Given the description of an element on the screen output the (x, y) to click on. 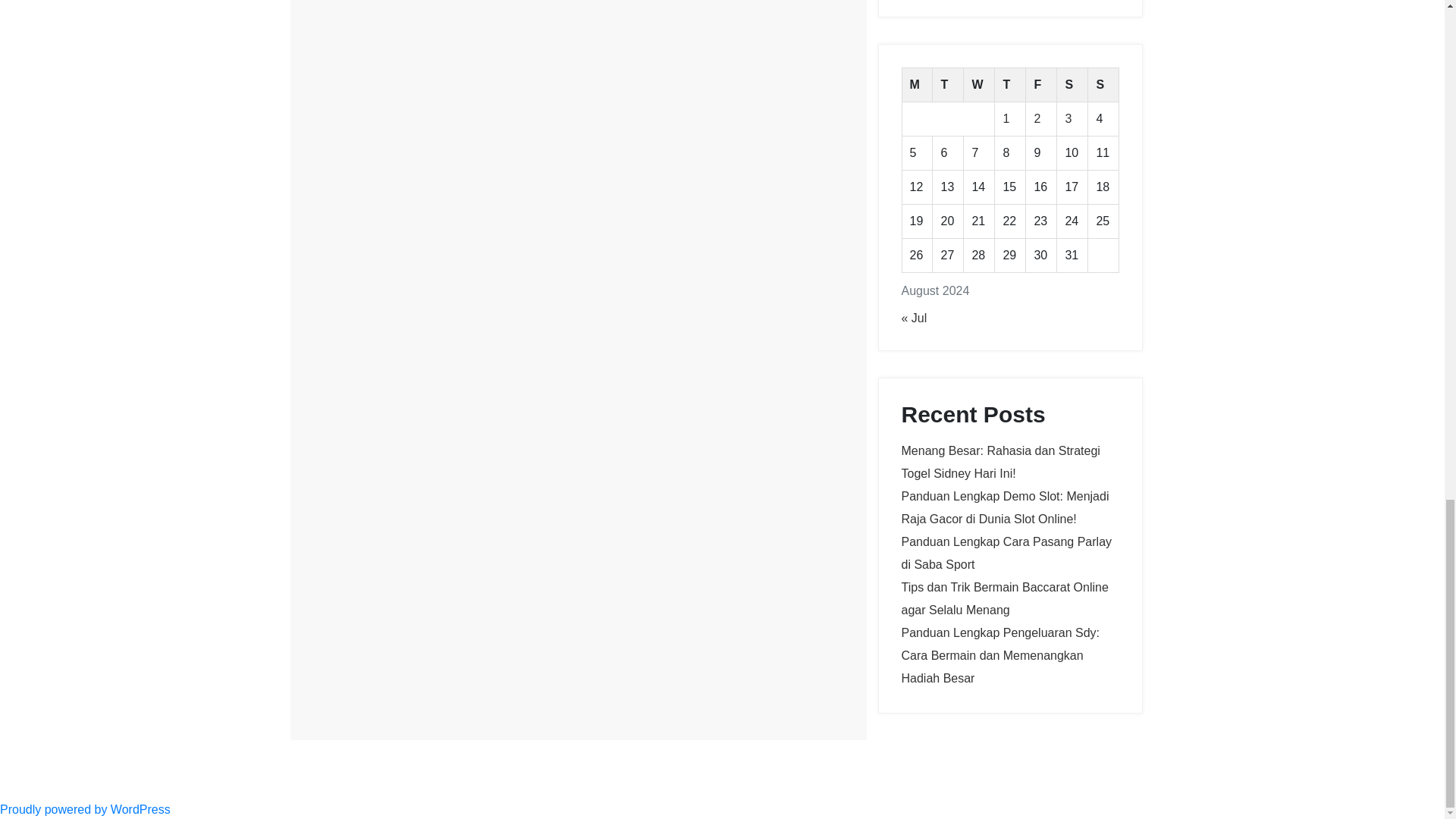
Tuesday (948, 84)
Saturday (1072, 84)
Important Things You Should Know Before Playing Roulette (439, 15)
Friday (1041, 84)
Sunday (1103, 84)
Wednesday (978, 84)
Monday (917, 84)
Thursday (1010, 84)
